Given the description of an element on the screen output the (x, y) to click on. 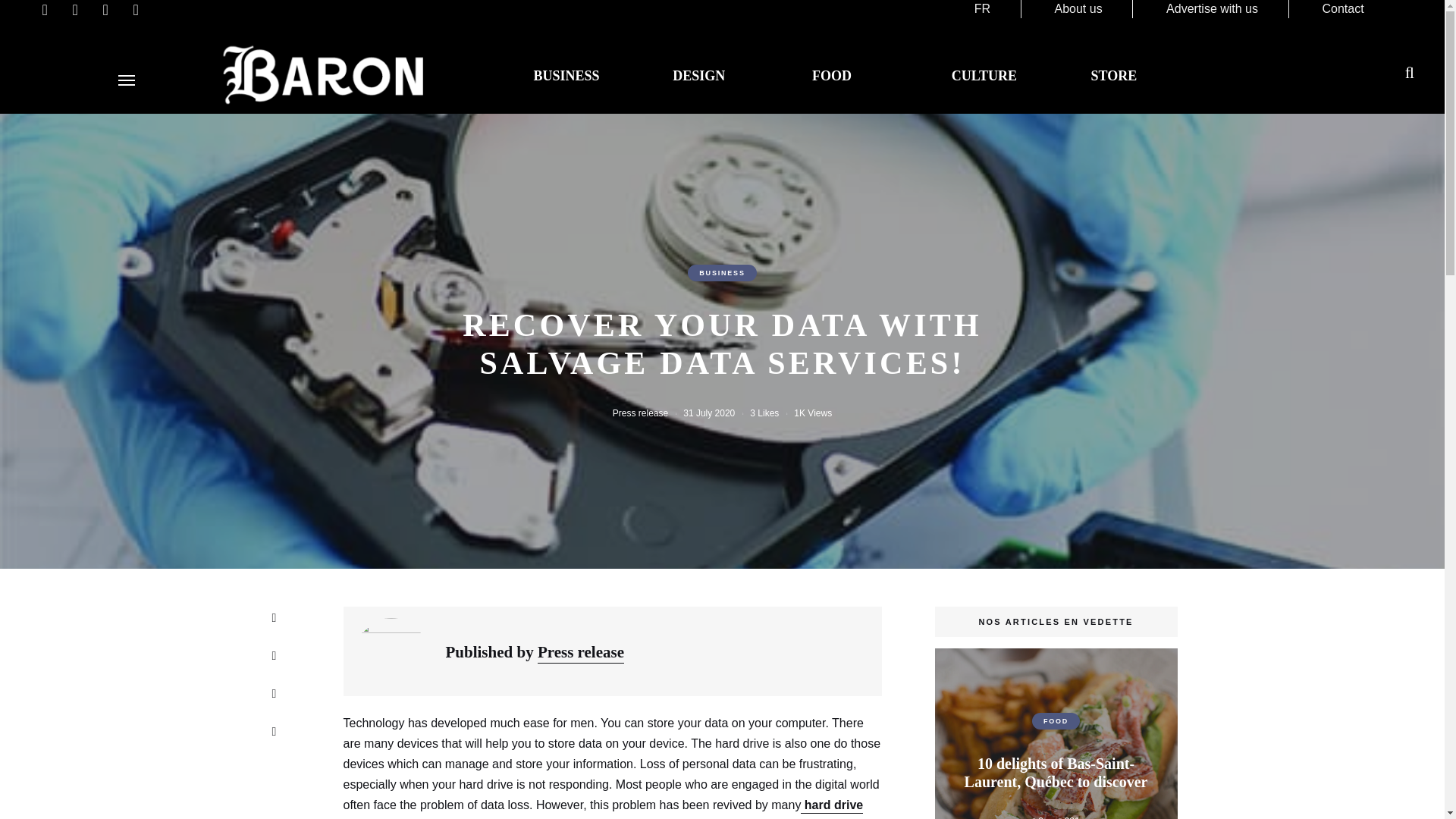
Contact (1342, 8)
DESIGN (698, 75)
Advertise with us (1211, 8)
Pinterest (273, 731)
About us (1078, 8)
Menu (126, 79)
FR (982, 8)
Twitter (273, 693)
Press release (640, 412)
Facebook (273, 655)
BUSINESS (565, 75)
